Given the description of an element on the screen output the (x, y) to click on. 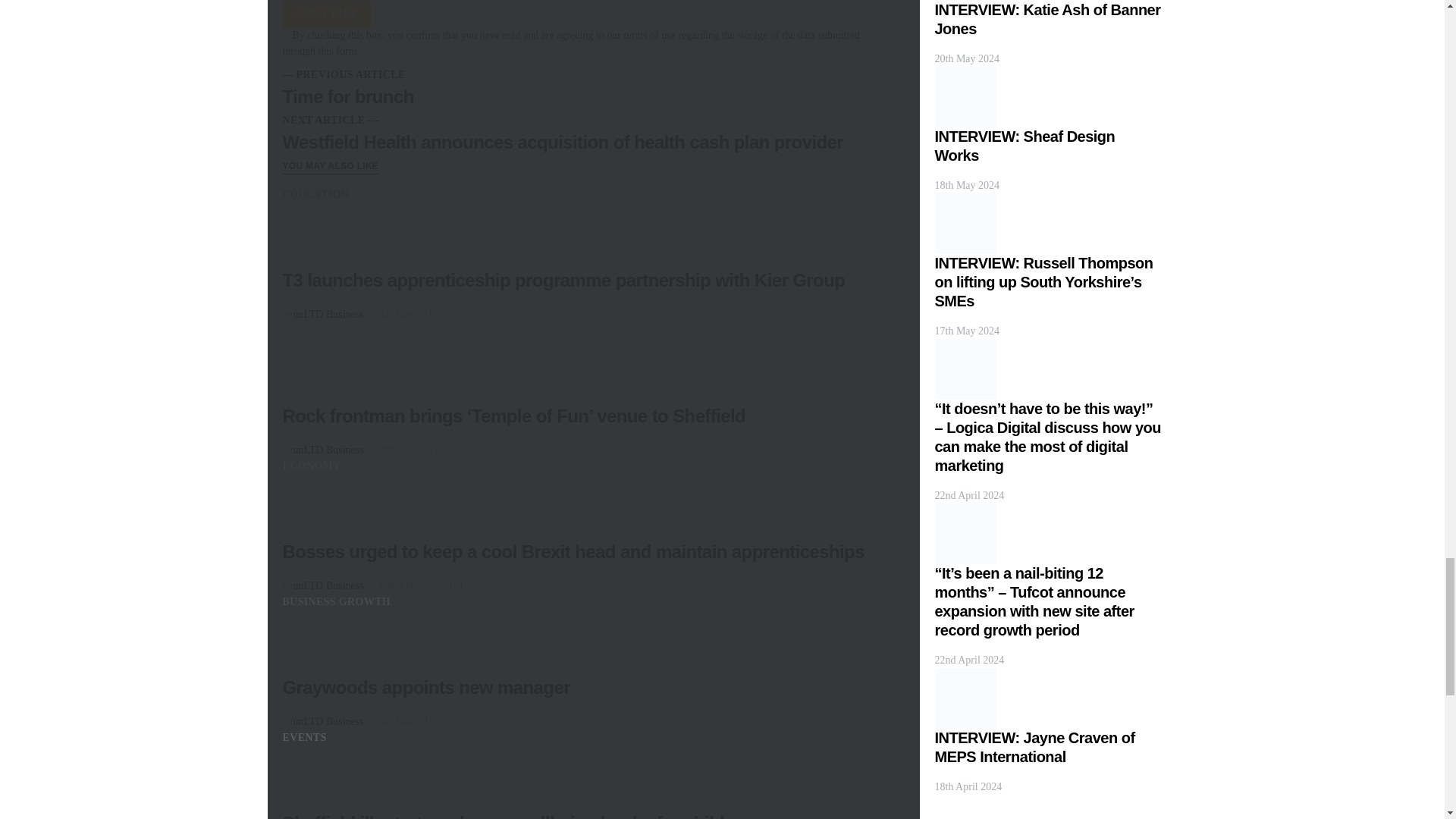
View all posts by unLTD Business (327, 585)
on (287, 33)
View all posts by unLTD Business (327, 314)
View all posts by unLTD Business (327, 449)
View all posts by unLTD Business (327, 721)
